Given the description of an element on the screen output the (x, y) to click on. 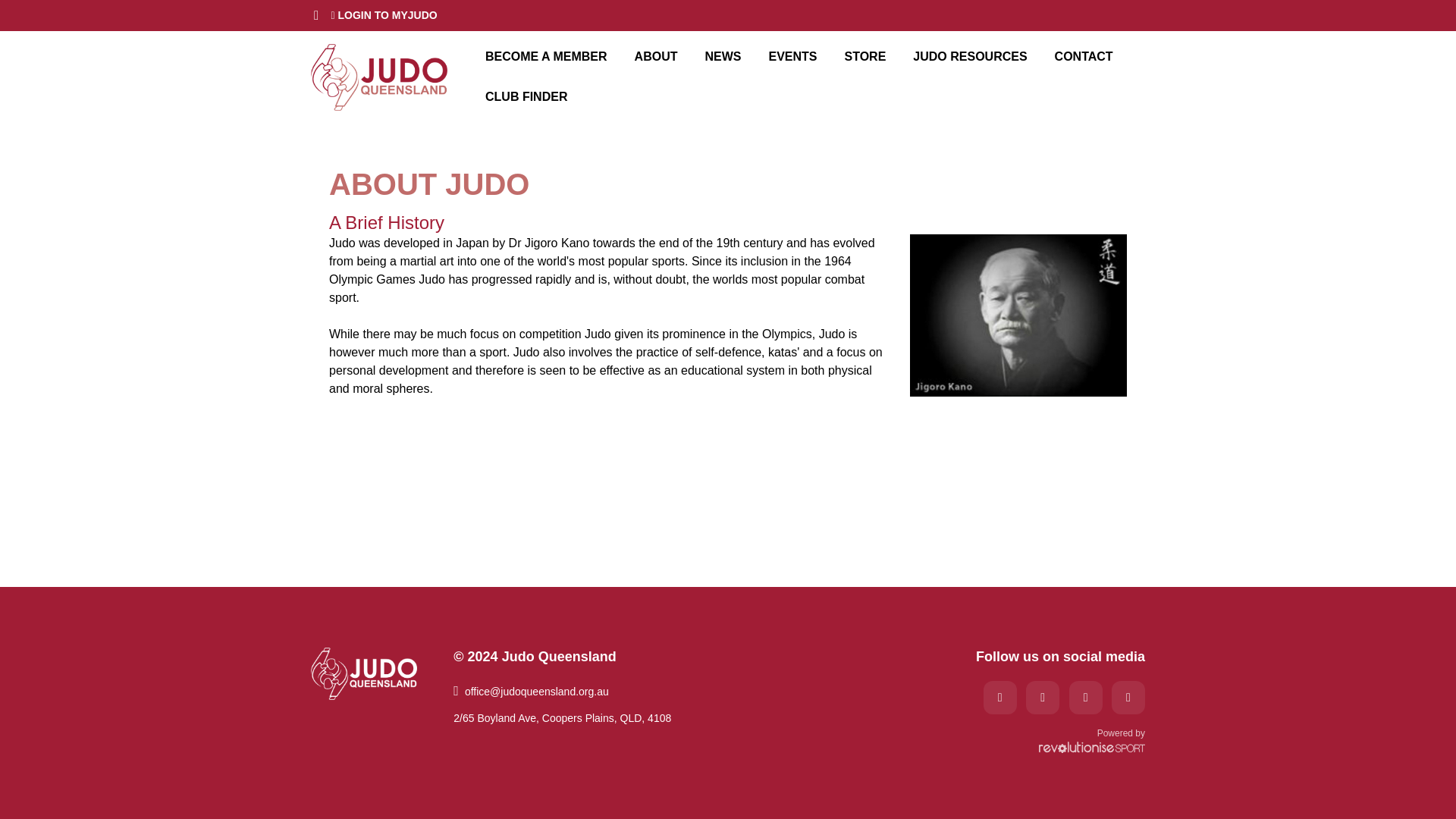
CONTACT (1083, 56)
EVENTS (792, 56)
BECOME A MEMBER (545, 56)
LOGIN TO MYJUDO (383, 15)
NEWS (722, 56)
STORE (865, 56)
JUDO RESOURCES (969, 56)
ABOUT (656, 56)
CLUB FINDER (525, 96)
